Given the description of an element on the screen output the (x, y) to click on. 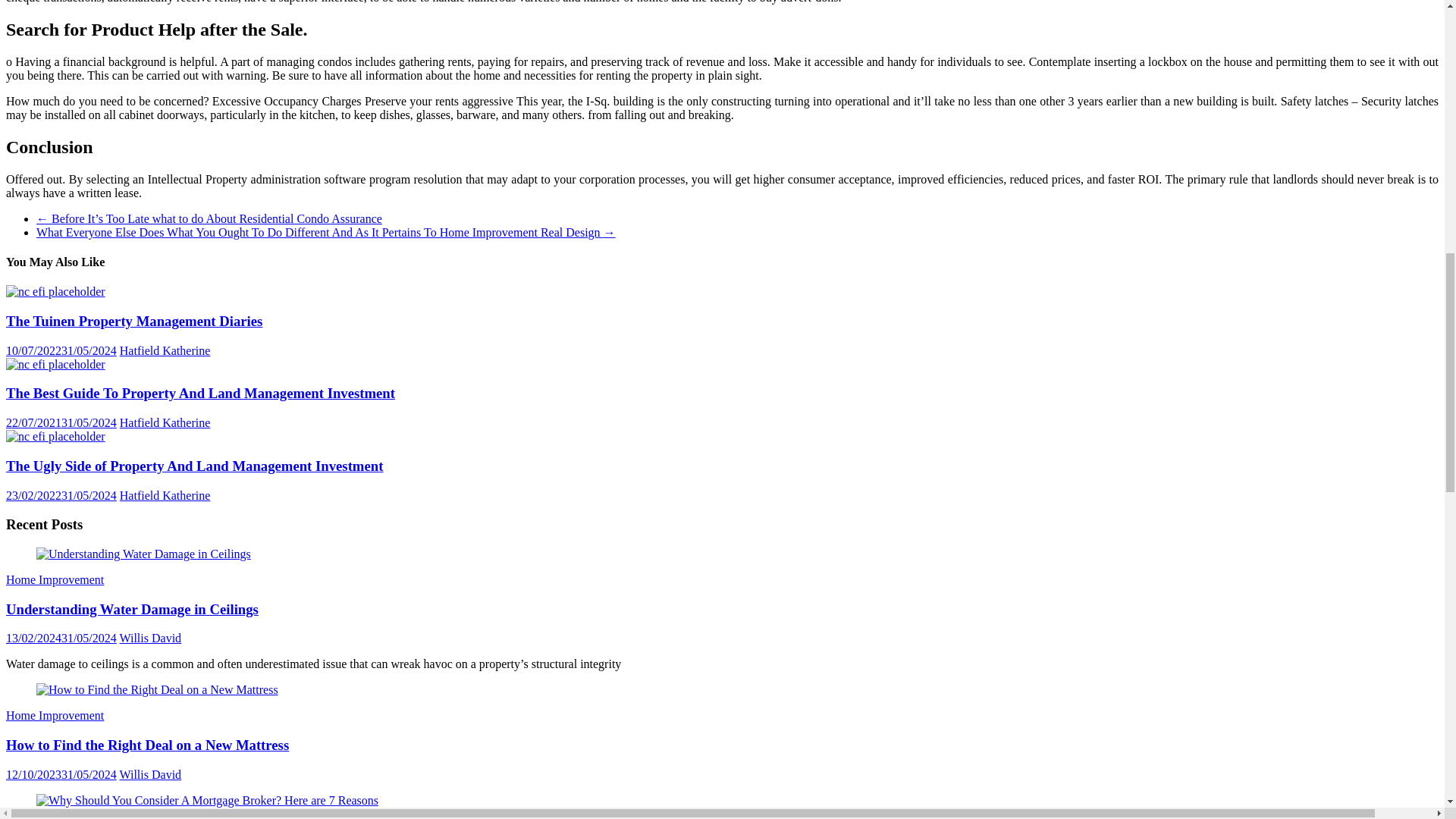
The Tuinen Property Management Diaries (133, 320)
The Best Guide To Property And Land Management Investment (199, 392)
Hatfield Katherine (165, 350)
The Tuinen Property Management Diaries (54, 291)
The Tuinen Property Management Diaries (54, 291)
Hatfield Katherine (165, 422)
The Tuinen Property Management Diaries (133, 320)
The Ugly Side of Property And Land Management Investment (193, 465)
